Given the description of an element on the screen output the (x, y) to click on. 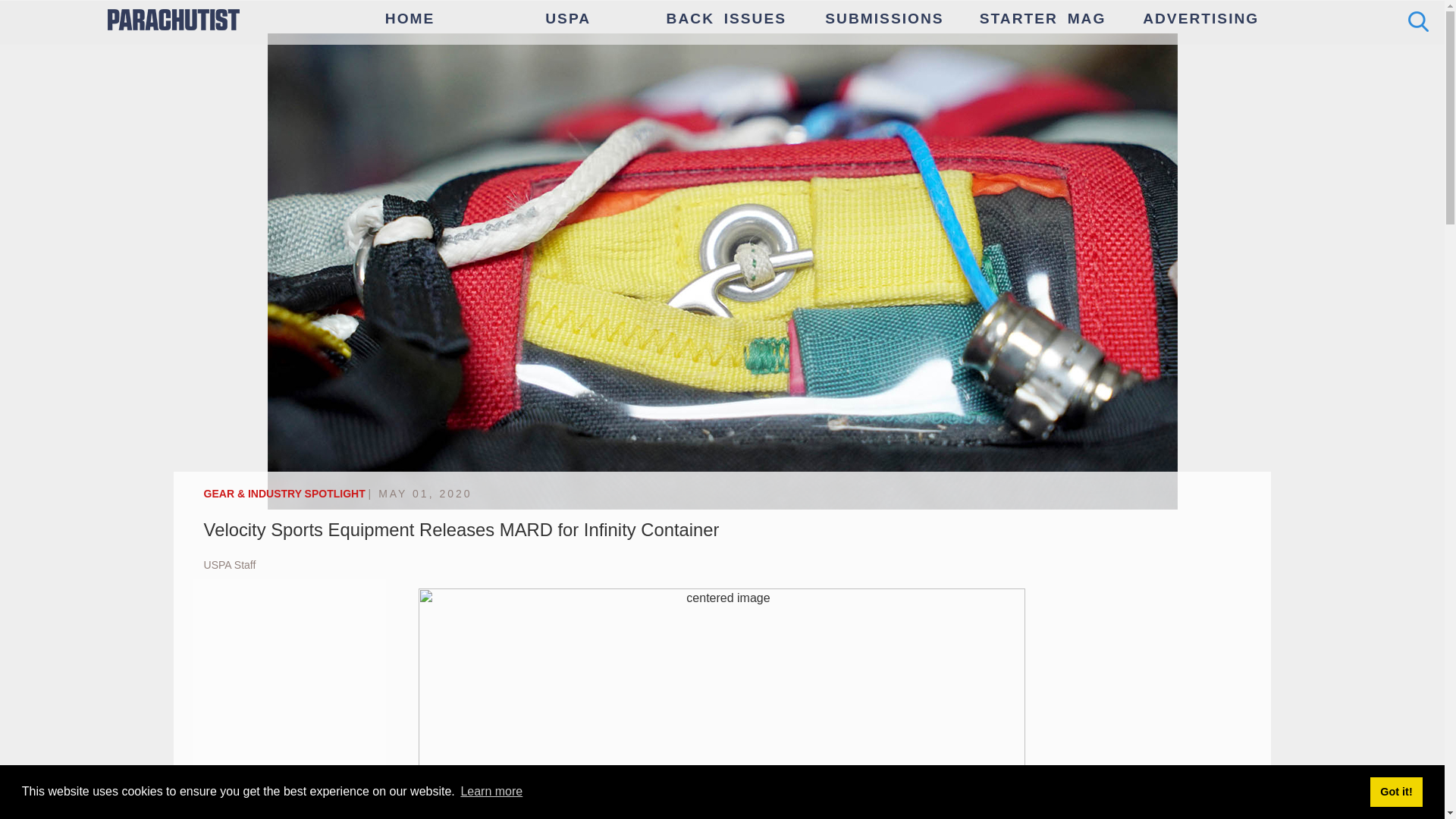
SUBMISSIONS (884, 17)
Got it! (1396, 791)
Learn more (491, 791)
ADVERTISING (1200, 17)
HOME (410, 17)
USPA (568, 17)
BACK0ISSUES (726, 17)
STARTER0MAG (1042, 17)
